Given the description of an element on the screen output the (x, y) to click on. 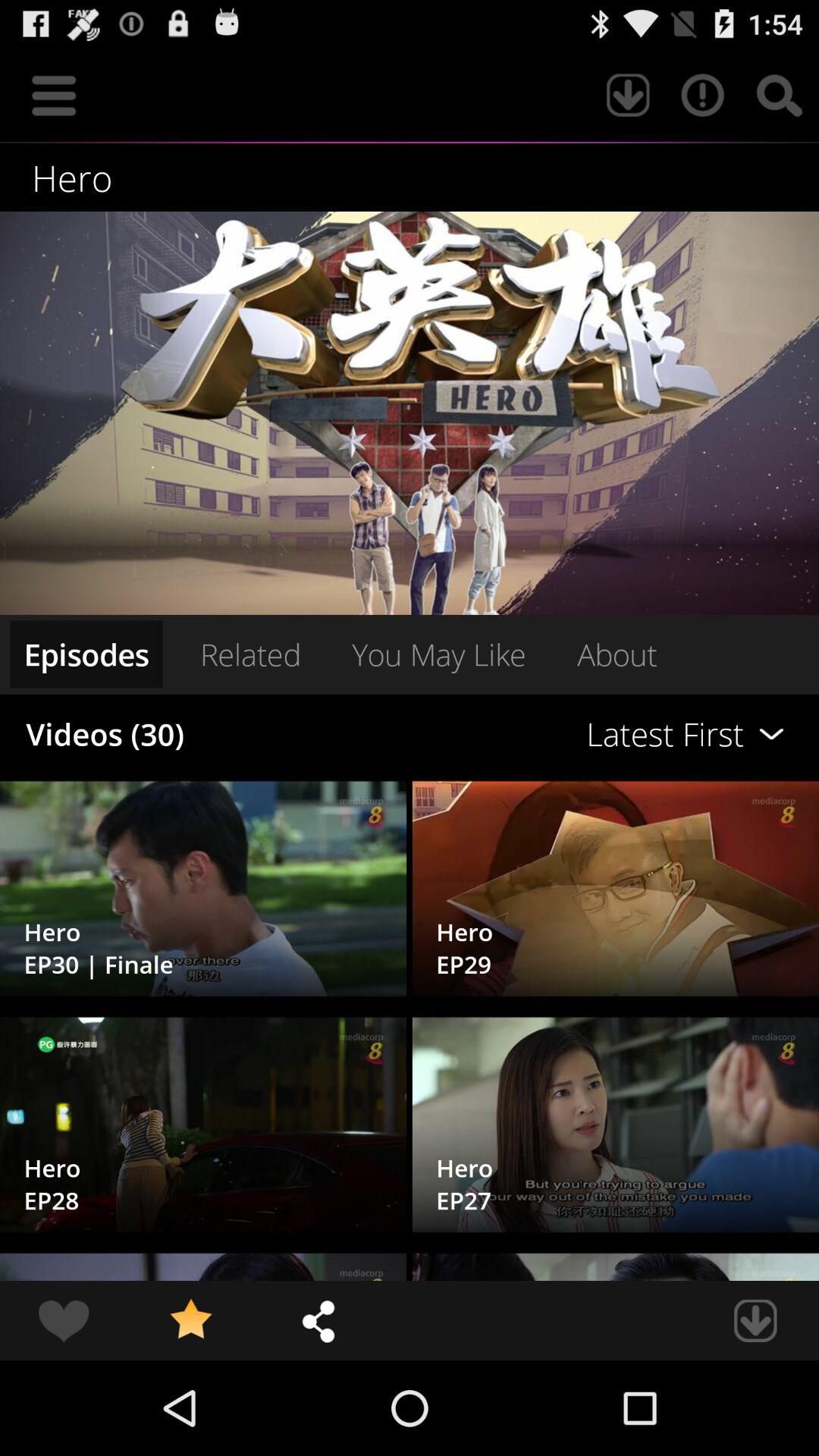
choose item next to the latest first (250, 654)
